Given the description of an element on the screen output the (x, y) to click on. 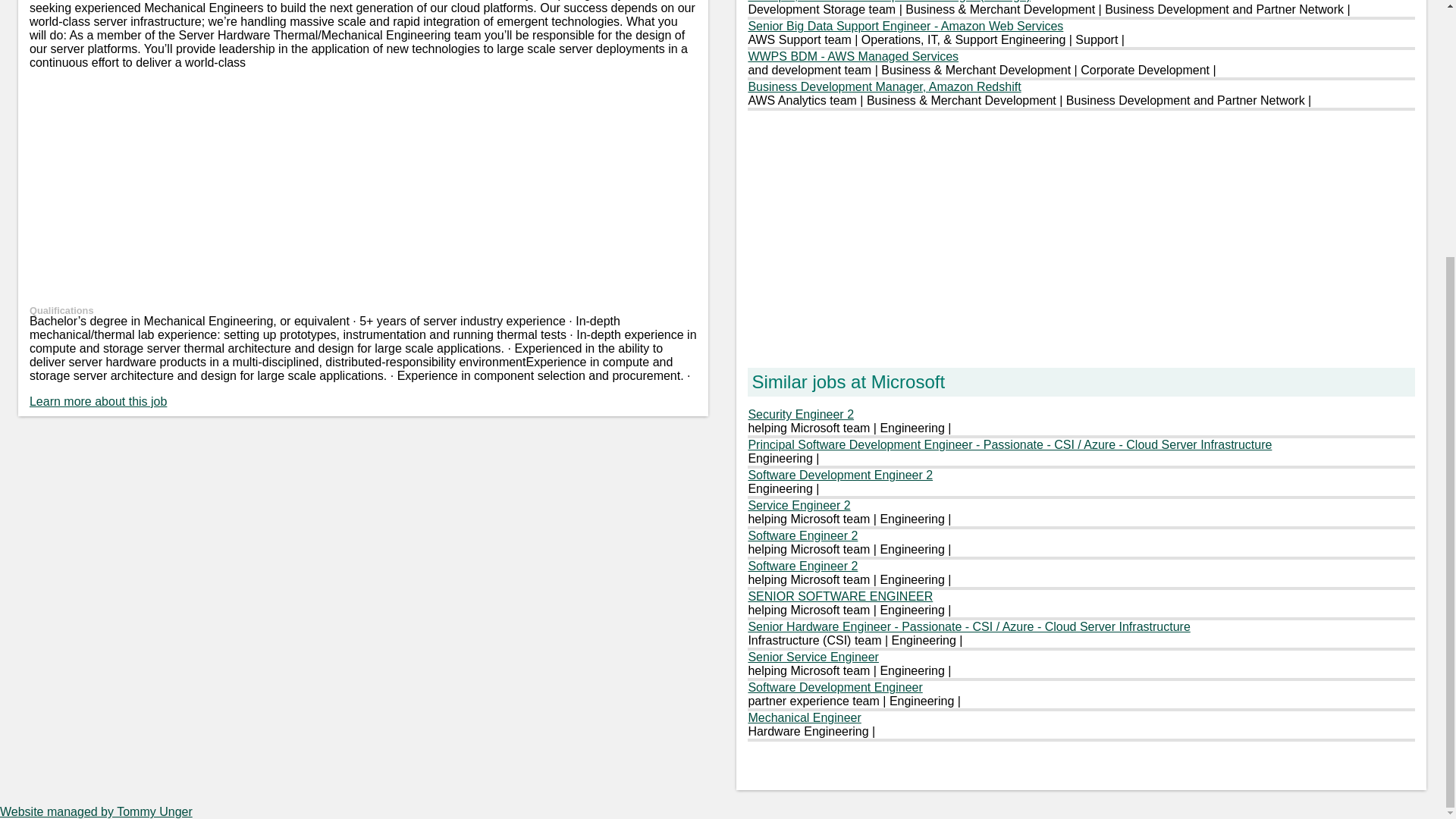
WWPS BDM - AWS Managed Services (853, 56)
Website managed by Tommy Unger (96, 811)
Business Development Manager, Amazon Redshift (884, 86)
Senior Big Data Support Engineer - Amazon Web Services (905, 25)
Mechanical Engineer (804, 717)
Software Engineer 2 (802, 565)
Learn more about this job (98, 400)
Senior Service Engineer (813, 656)
Service Engineer 2 (799, 504)
Software Engineer 2 (802, 535)
Software Development Engineer 2 (840, 474)
Software Development Engineer (834, 686)
Security Engineer 2 (800, 413)
